Given the description of an element on the screen output the (x, y) to click on. 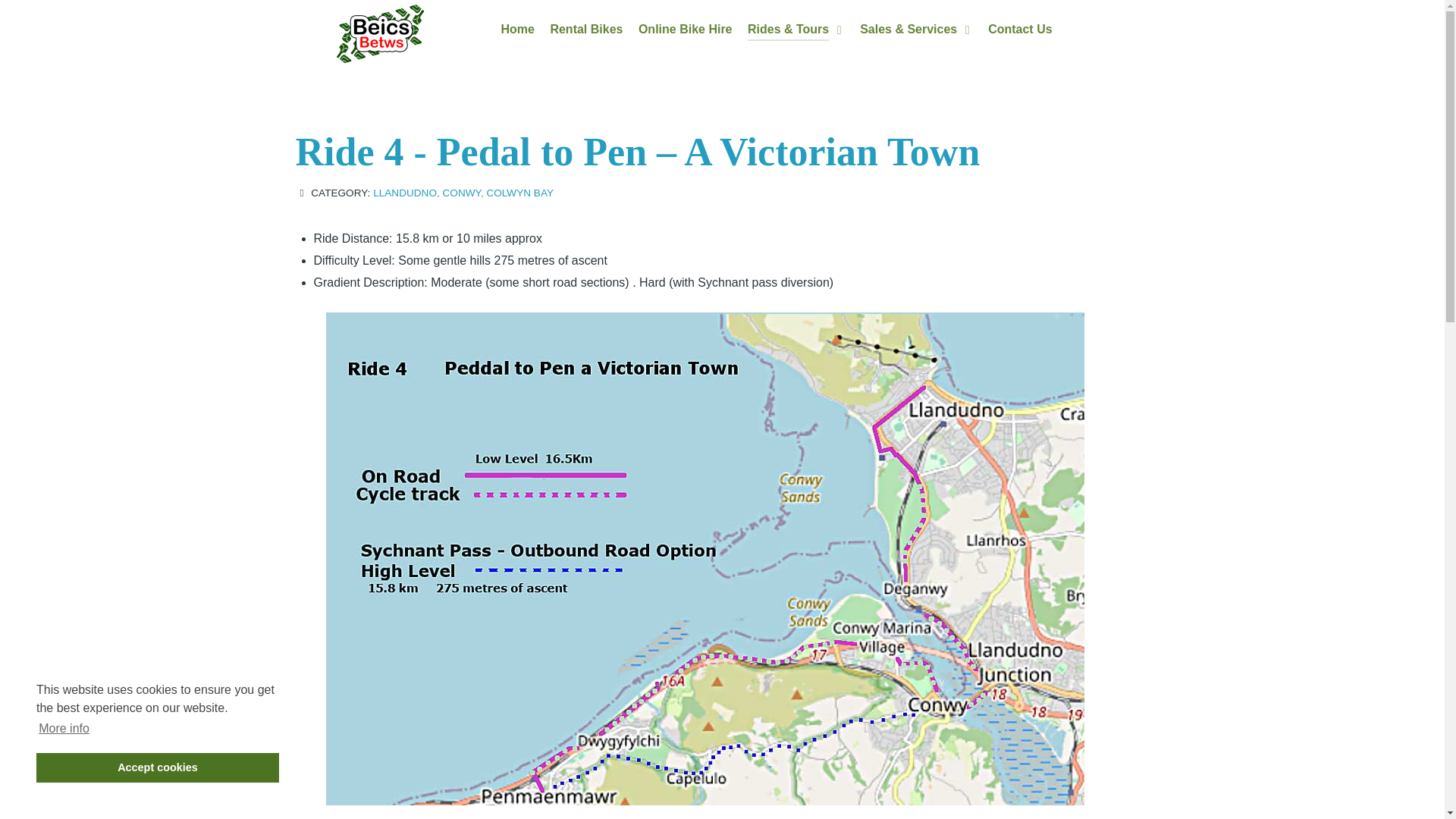
Contact Us (1019, 30)
Bike rides and tours (796, 30)
Home (517, 30)
Home page (517, 30)
Hire your bike here! (685, 30)
All our hire bikes (586, 30)
Rental Bikes (586, 30)
LLANDUDNO, CONWY, COLWYN BAY (462, 192)
More info (63, 728)
Accept cookies (157, 767)
